Given the description of an element on the screen output the (x, y) to click on. 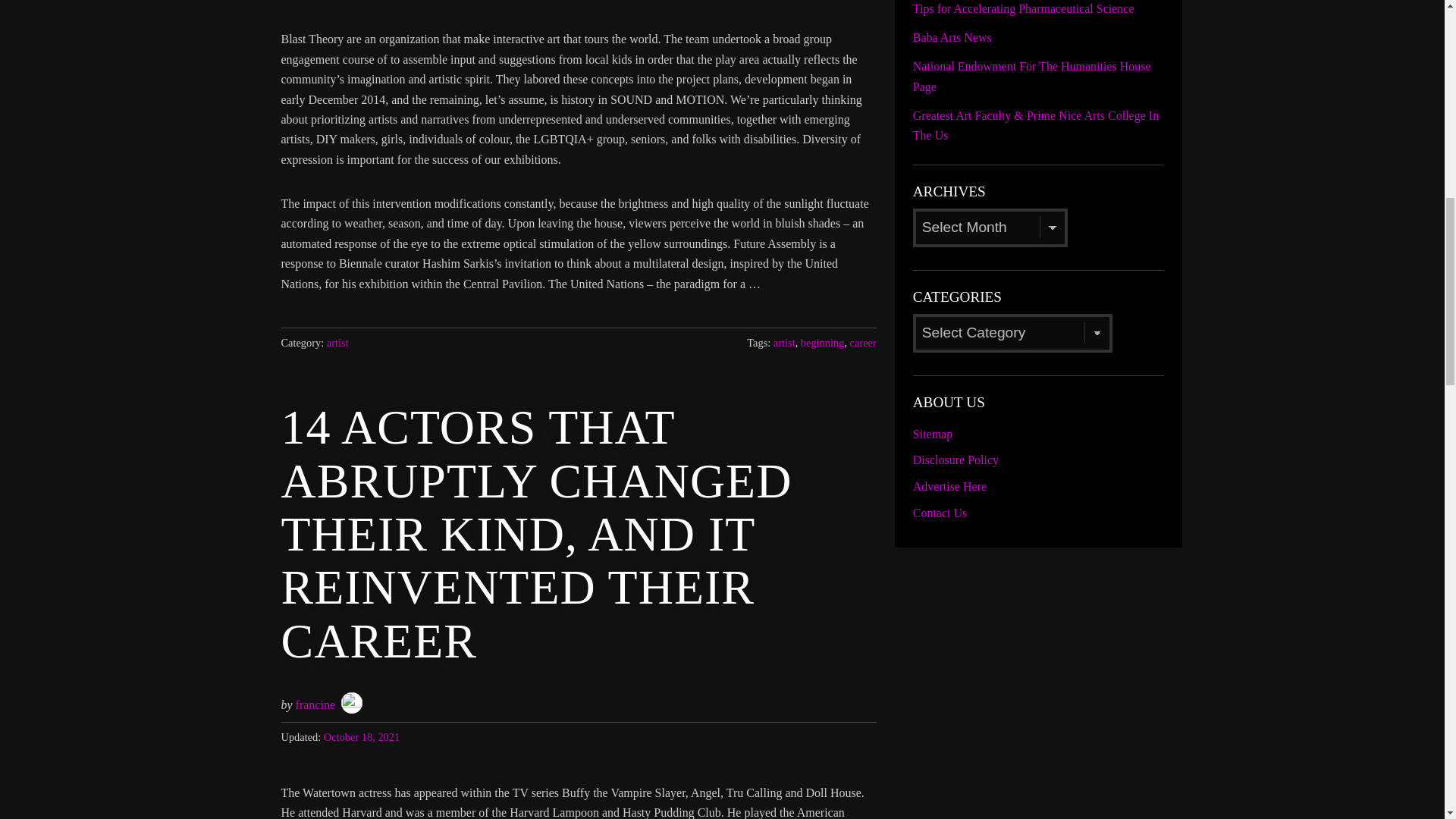
artist (337, 342)
Posts by francine (314, 704)
11:19 am (360, 736)
